Given the description of an element on the screen output the (x, y) to click on. 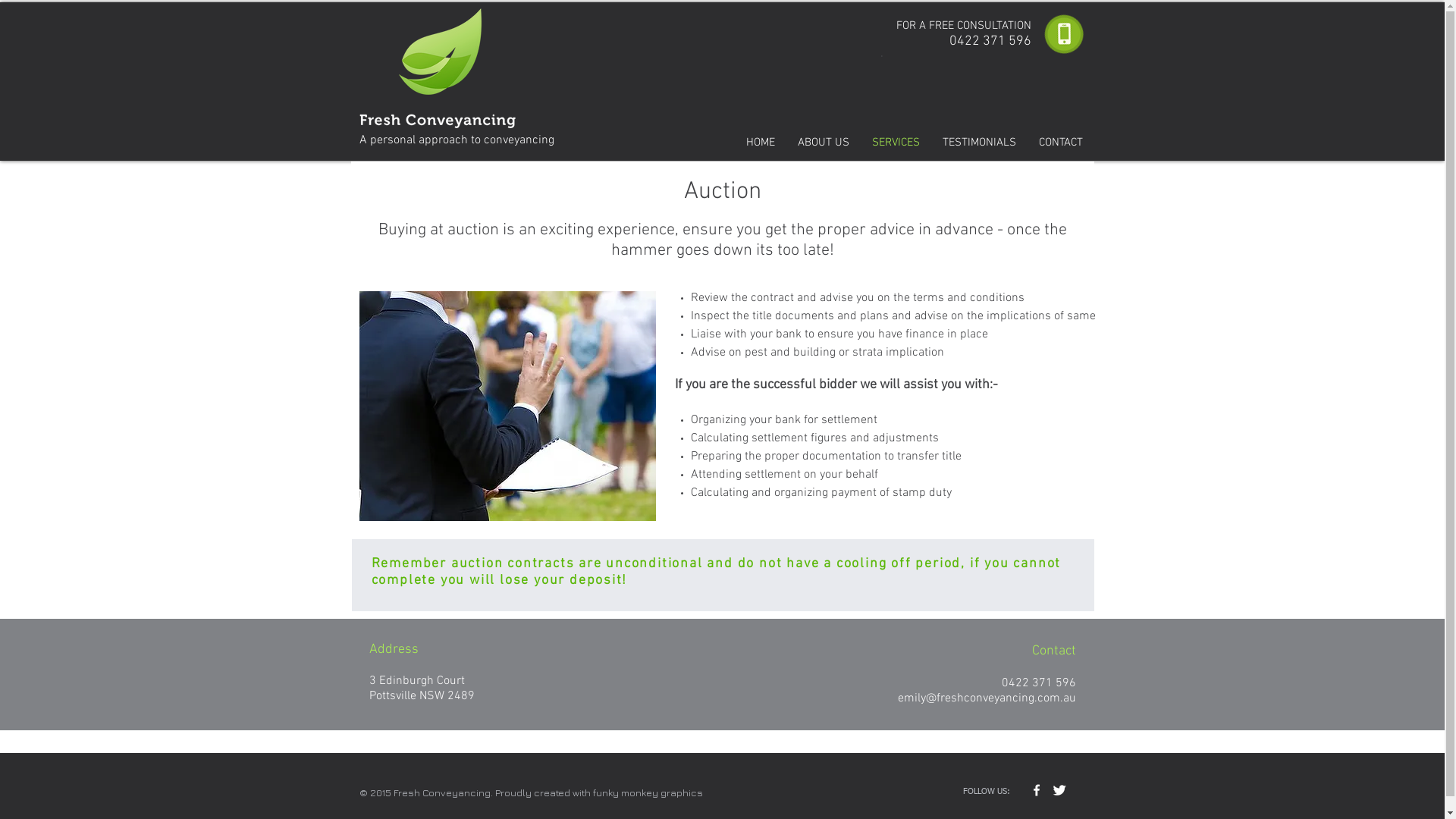
funky monkey graphics Element type: text (647, 792)
TESTIMONIALS Element type: text (979, 142)
ABOUT US Element type: text (822, 142)
SERVICES Element type: text (894, 142)
emily@freshconveyancing.com.au Element type: text (986, 698)
CONTACT Element type: text (1059, 142)
Fresh Conveyancing Element type: hover (437, 74)
HOME Element type: text (759, 142)
